Given the description of an element on the screen output the (x, y) to click on. 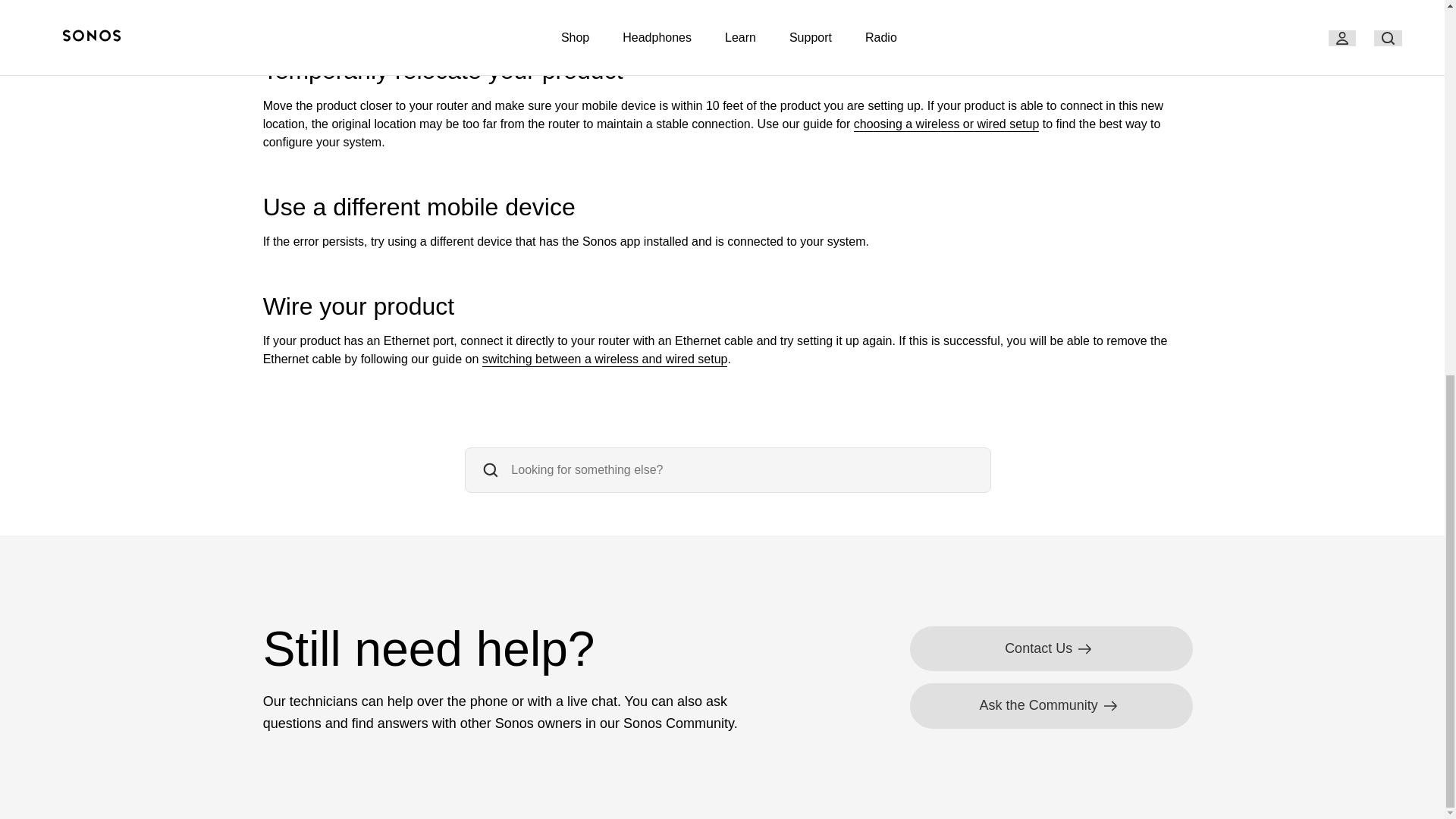
Contact Us (1051, 648)
Ask the Community (1051, 705)
switching between a wireless and wired setup (604, 359)
choosing a wireless or wired setup (946, 124)
